Given the description of an element on the screen output the (x, y) to click on. 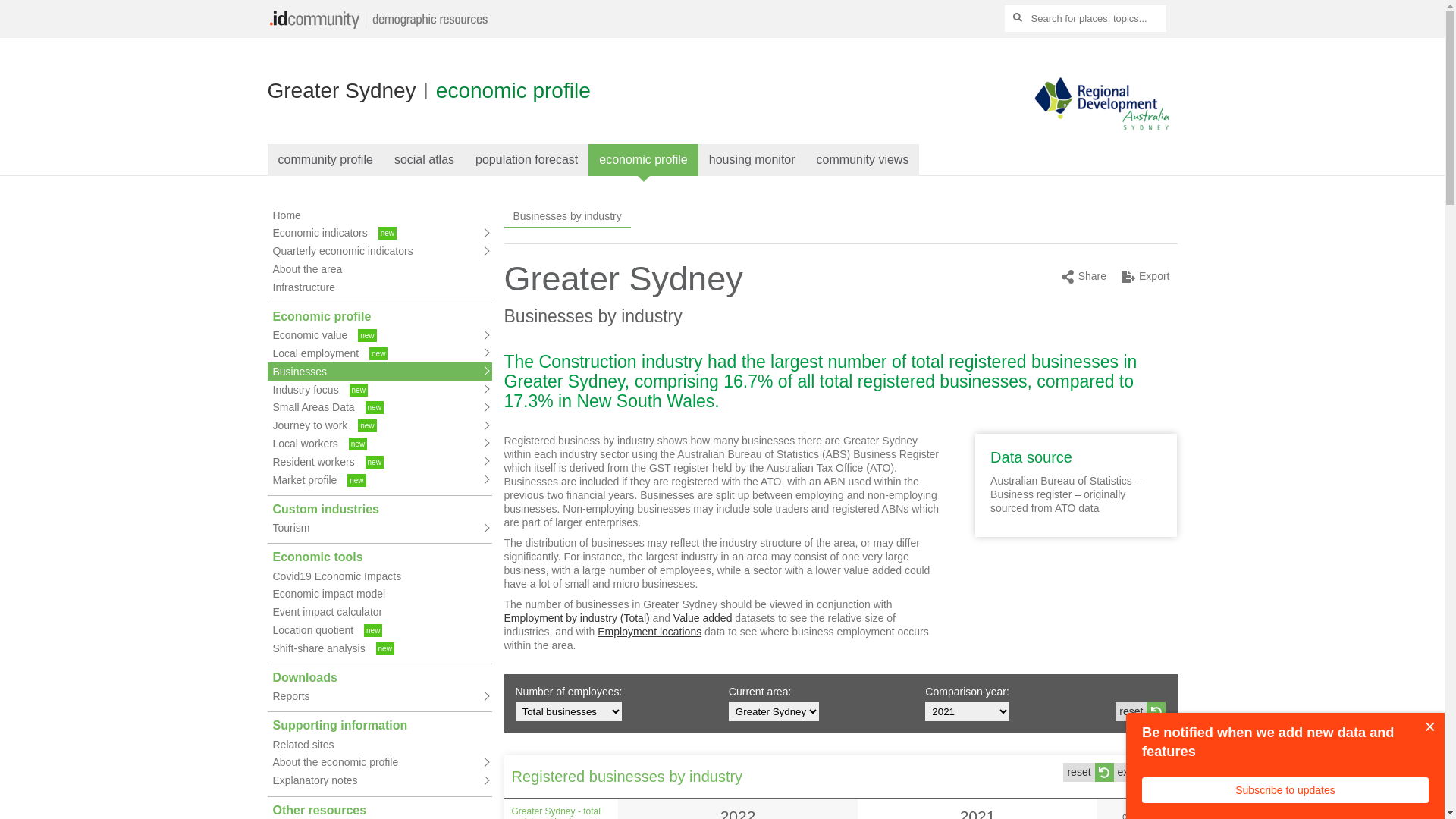
Infrastructure Element type: text (378, 287)
Subscribe to updates Element type: text (1285, 790)
Market profile new Element type: text (378, 479)
Industry focus new Element type: text (378, 389)
Shift-share analysis new Element type: text (378, 648)
Home Element type: text (378, 215)
export Element type: text (1141, 771)
reset Element type: text (1088, 771)
Businesses by industry Element type: text (566, 217)
Covid19 Economic Impacts Element type: text (378, 576)
Employment by industry (Total) Element type: text (576, 617)
Explanatory notes Element type: text (378, 780)
Quarterly economic indicators Element type: text (378, 251)
Local workers new Element type: text (378, 443)
Small Areas Data new Element type: text (378, 407)
About the area Element type: text (378, 269)
Employment locations Element type: text (649, 631)
Economic impact model Element type: text (378, 594)
Event impact calculator Element type: text (378, 612)
social atlas Element type: text (423, 159)
idc-logo Element type: text (380, 18)
Location quotient new Element type: text (378, 630)
About the economic profile Element type: text (378, 762)
Reports Element type: text (378, 696)
reset Element type: text (1140, 711)
community profile Element type: text (324, 159)
Businesses Element type: text (378, 371)
Economic value new Element type: text (378, 335)
population forecast Element type: text (526, 159)
community views Element type: text (862, 159)
Journey to work new Element type: text (378, 426)
economic profile Element type: text (643, 159)
Tourism Element type: text (378, 528)
housing monitor Element type: text (752, 159)
Related sites Element type: text (378, 744)
Value added Element type: text (702, 617)
Economic indicators new Element type: text (378, 233)
Local employment new Element type: text (378, 353)
Resident workers new Element type: text (378, 461)
Greater Sydney home page Element type: hover (1100, 153)
